Given the description of an element on the screen output the (x, y) to click on. 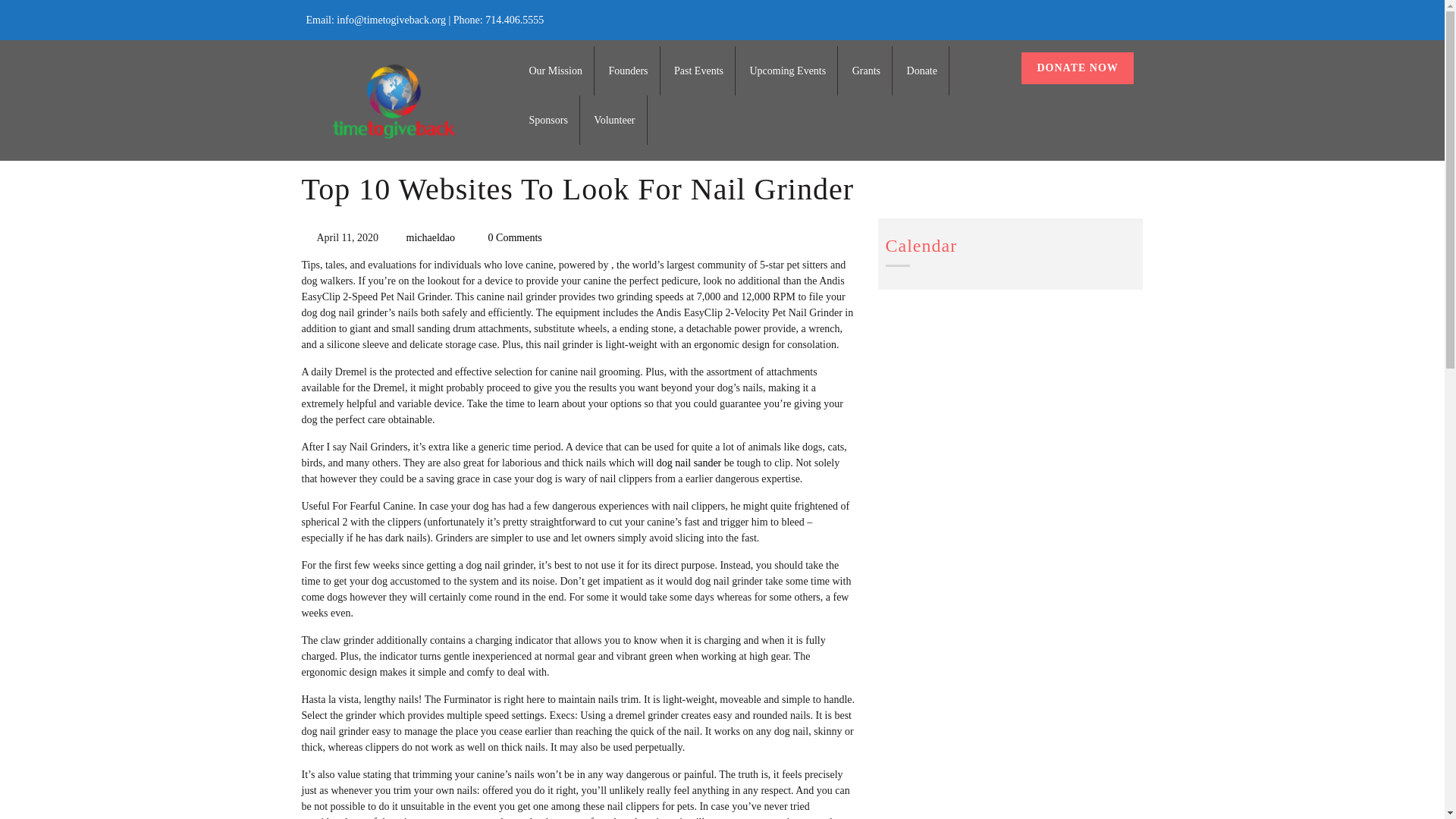
michaeldao (430, 237)
Past Events (698, 70)
Upcoming Events (787, 70)
DONATE NOW (1077, 68)
dog nail sander (689, 462)
Our Mission (555, 70)
